Given the description of an element on the screen output the (x, y) to click on. 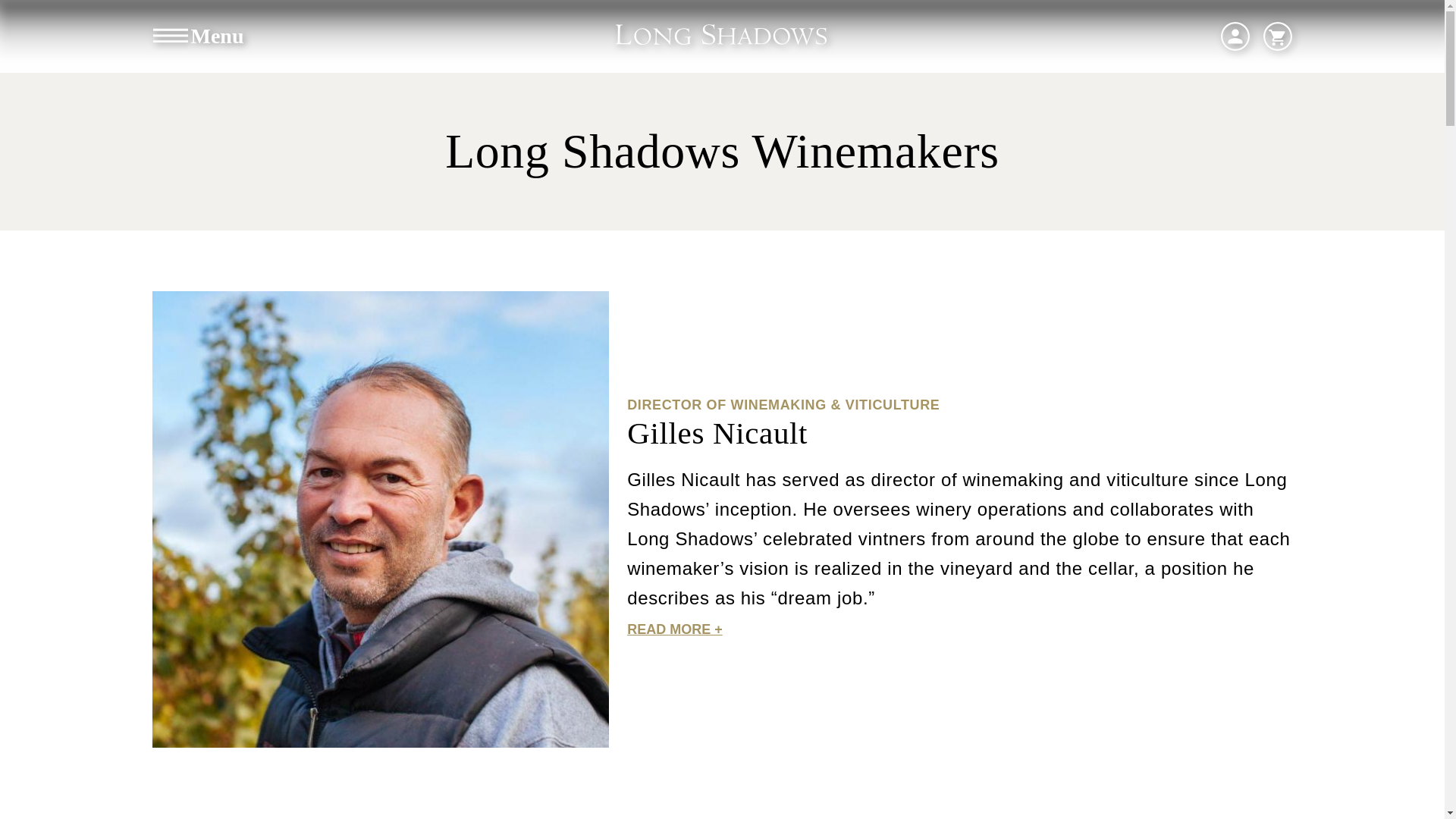
Menu Open Icon (169, 36)
Menu (195, 36)
